Given the description of an element on the screen output the (x, y) to click on. 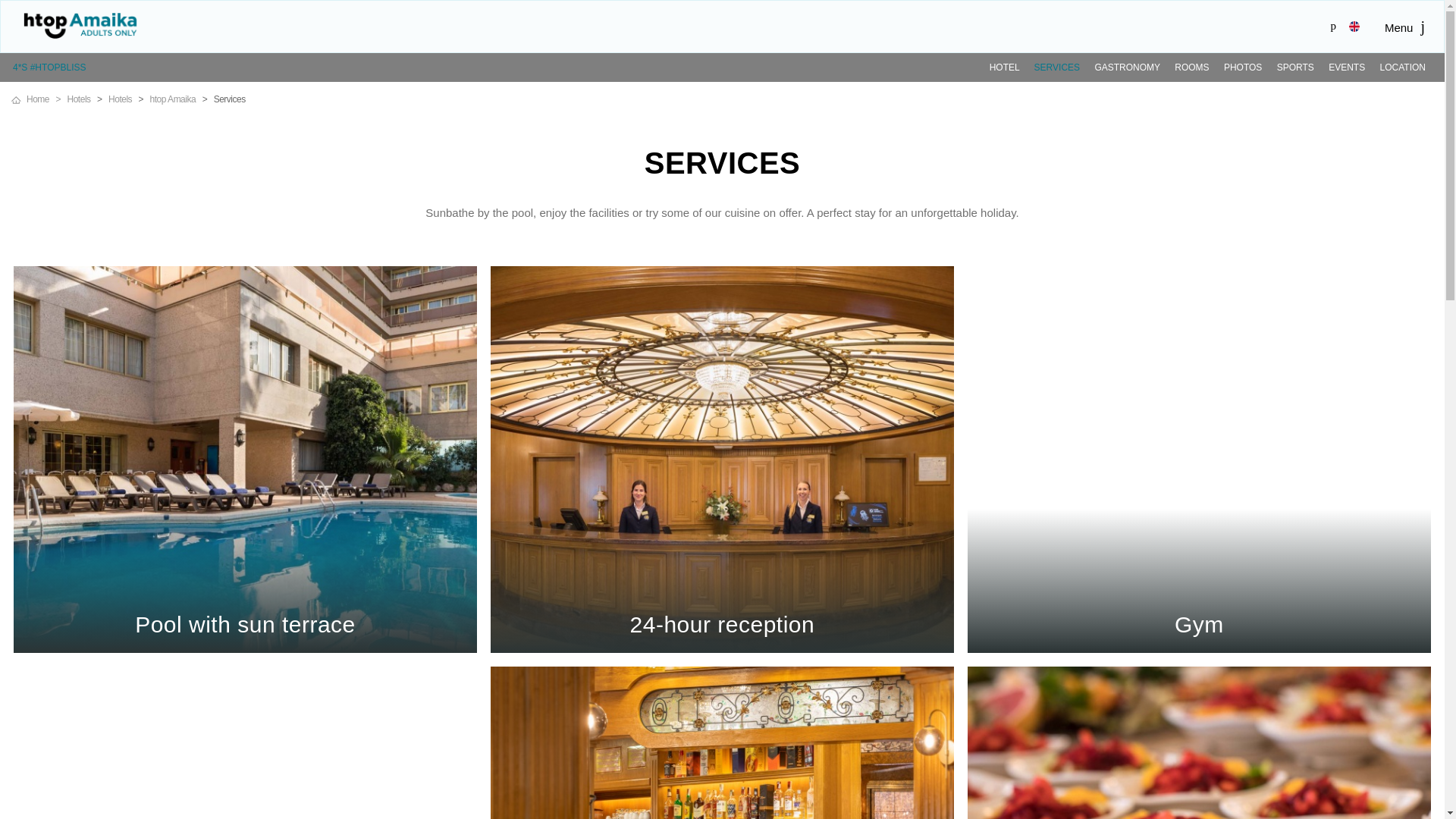
Services (230, 99)
Ir a: Home (46, 99)
Go to: Hoteles (119, 99)
Go to: htop Amaika (172, 99)
Go to: Hotels (78, 99)
